Given the description of an element on the screen output the (x, y) to click on. 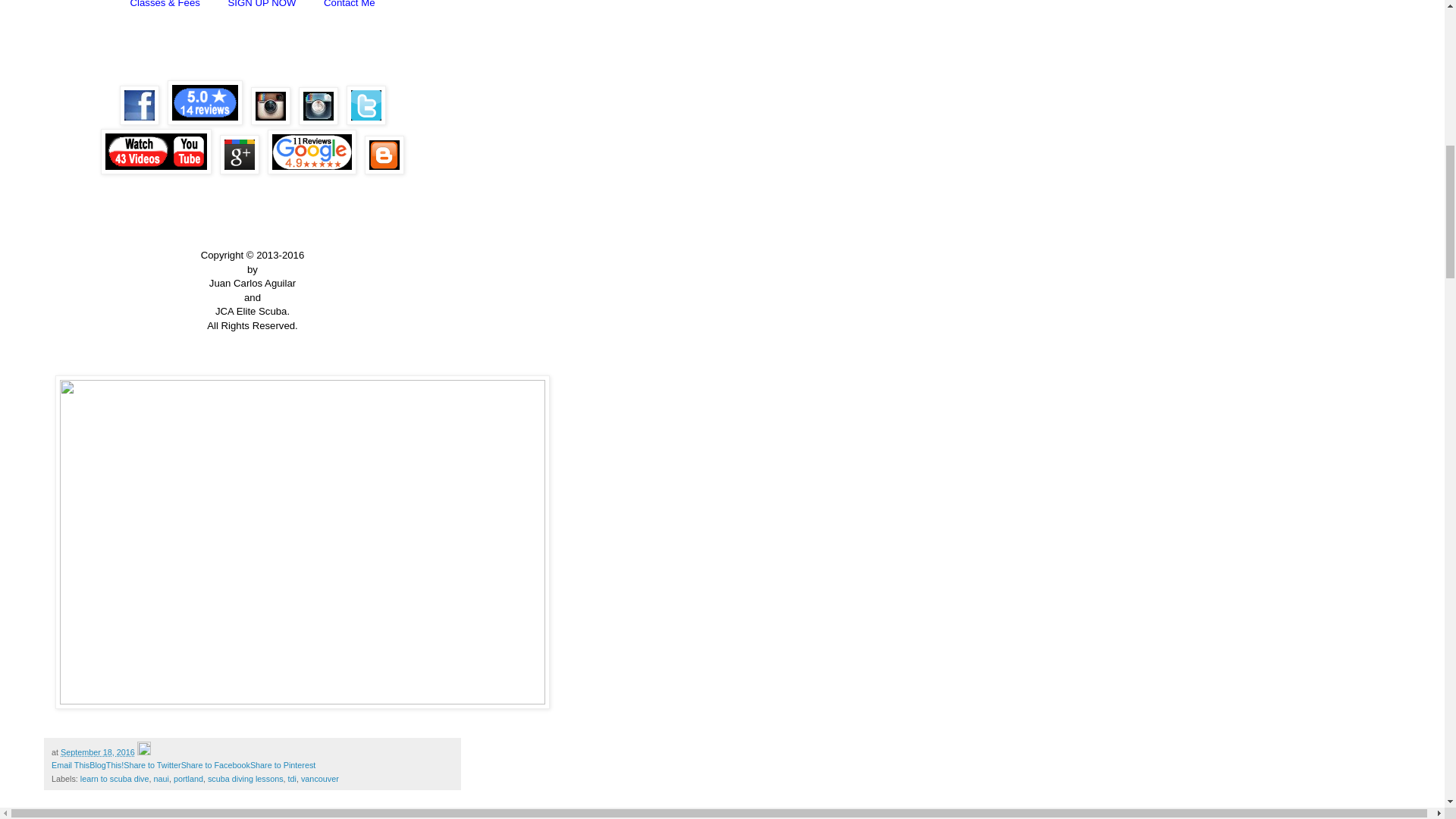
Share to Twitter (151, 764)
SIGN UP NOW (262, 4)
Email This (69, 764)
learn to scuba dive (114, 777)
Contact me by clicking here... (348, 4)
Which program is best for you? Click to see... (165, 4)
Share to Pinterest (282, 764)
BlogThis! (105, 764)
JCA Elite Scuba Facebook (138, 105)
Share to Facebook (215, 764)
Contact Me (348, 4)
September 18, 2016 (98, 751)
